Given the description of an element on the screen output the (x, y) to click on. 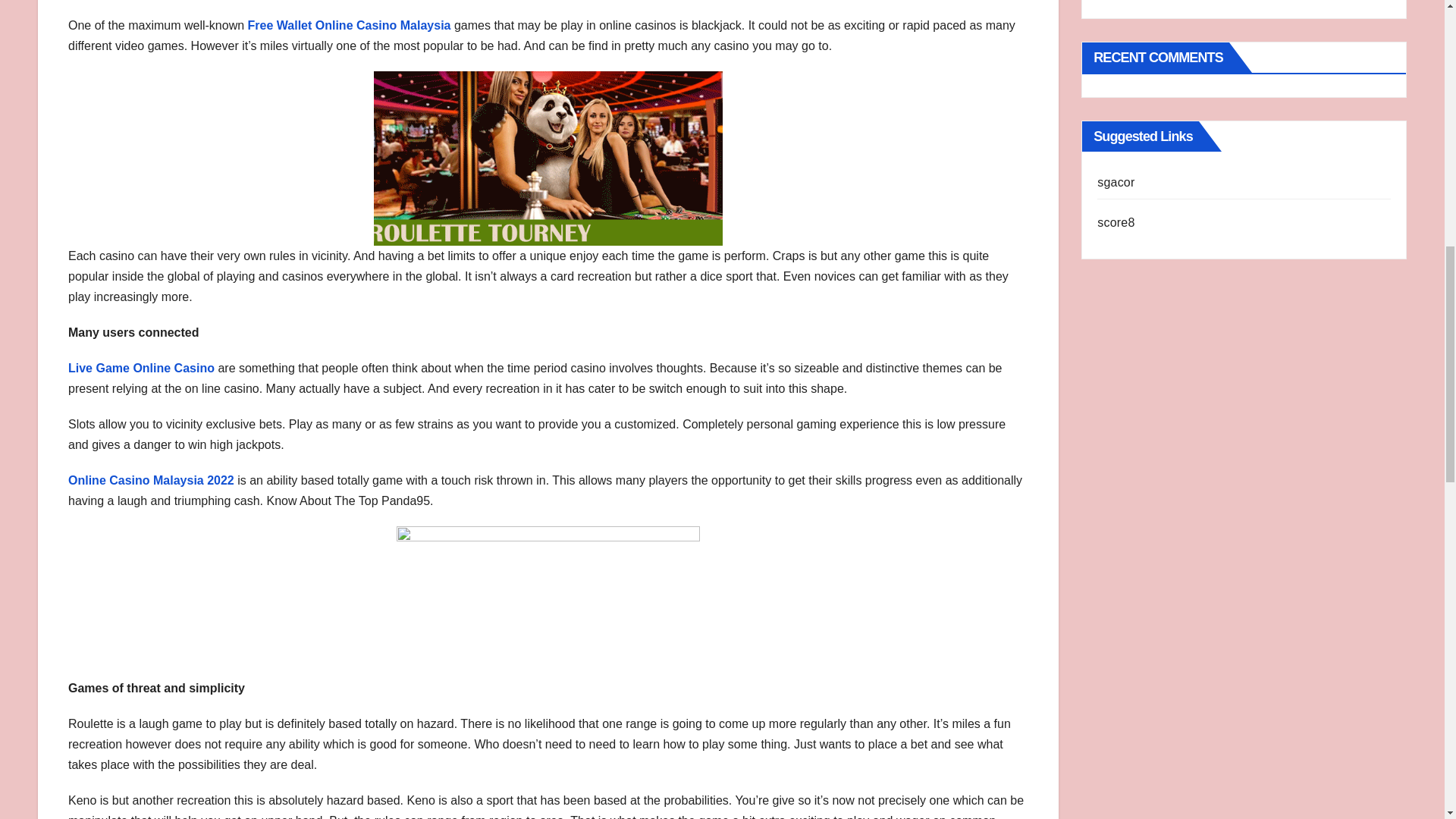
Online Casino Malaysia 2022 (151, 480)
Free Wallet Online Casino Malaysia (349, 24)
Live Game Online Casino (141, 367)
